Given the description of an element on the screen output the (x, y) to click on. 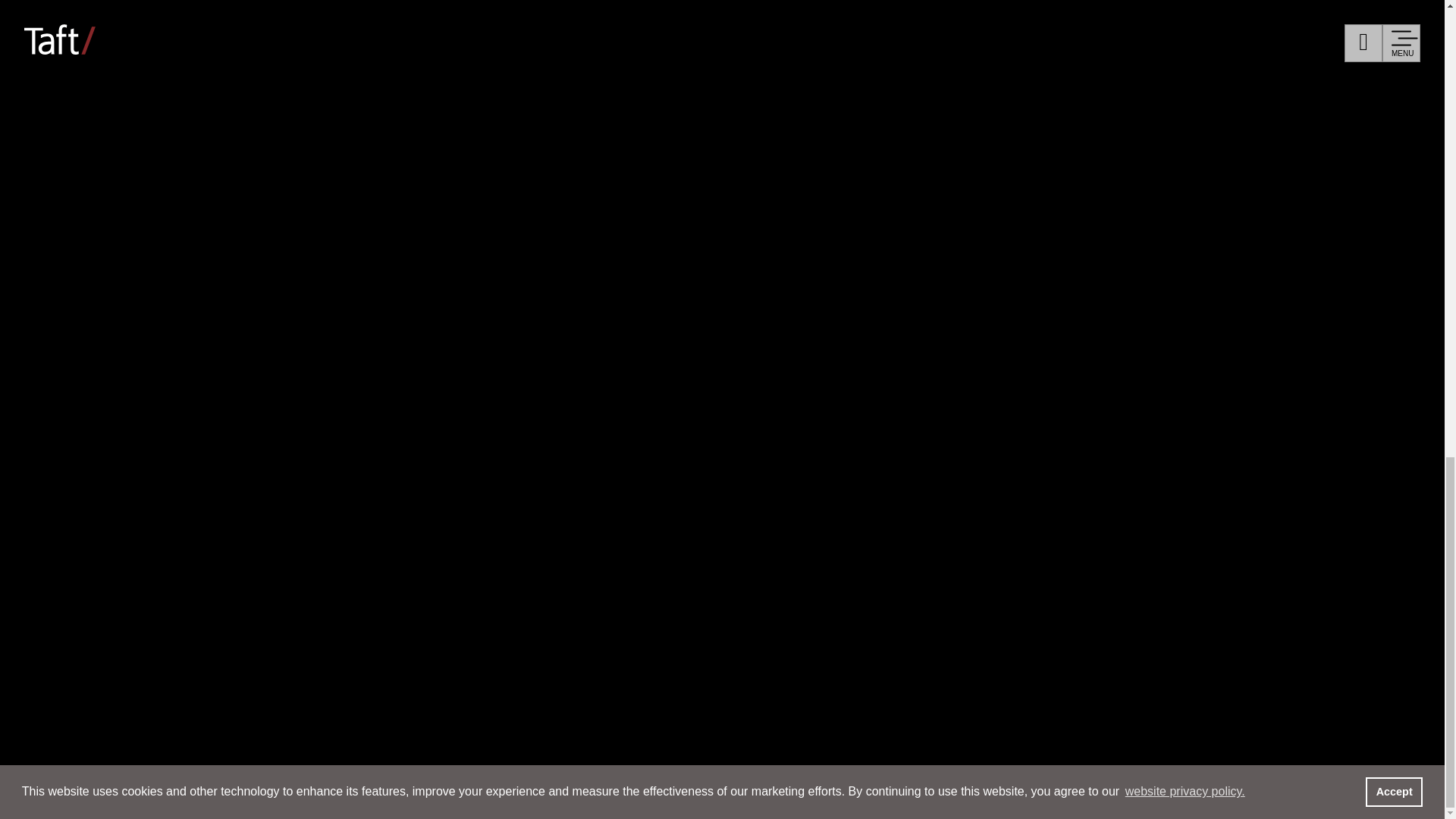
Privacy (1002, 387)
People (129, 176)
Terms and Conditions (1114, 387)
Careers (136, 313)
Contact Us (836, 387)
Subscribe (925, 387)
About (124, 402)
Services (144, 43)
Affiliates (753, 387)
Payments (861, 414)
